Given the description of an element on the screen output the (x, y) to click on. 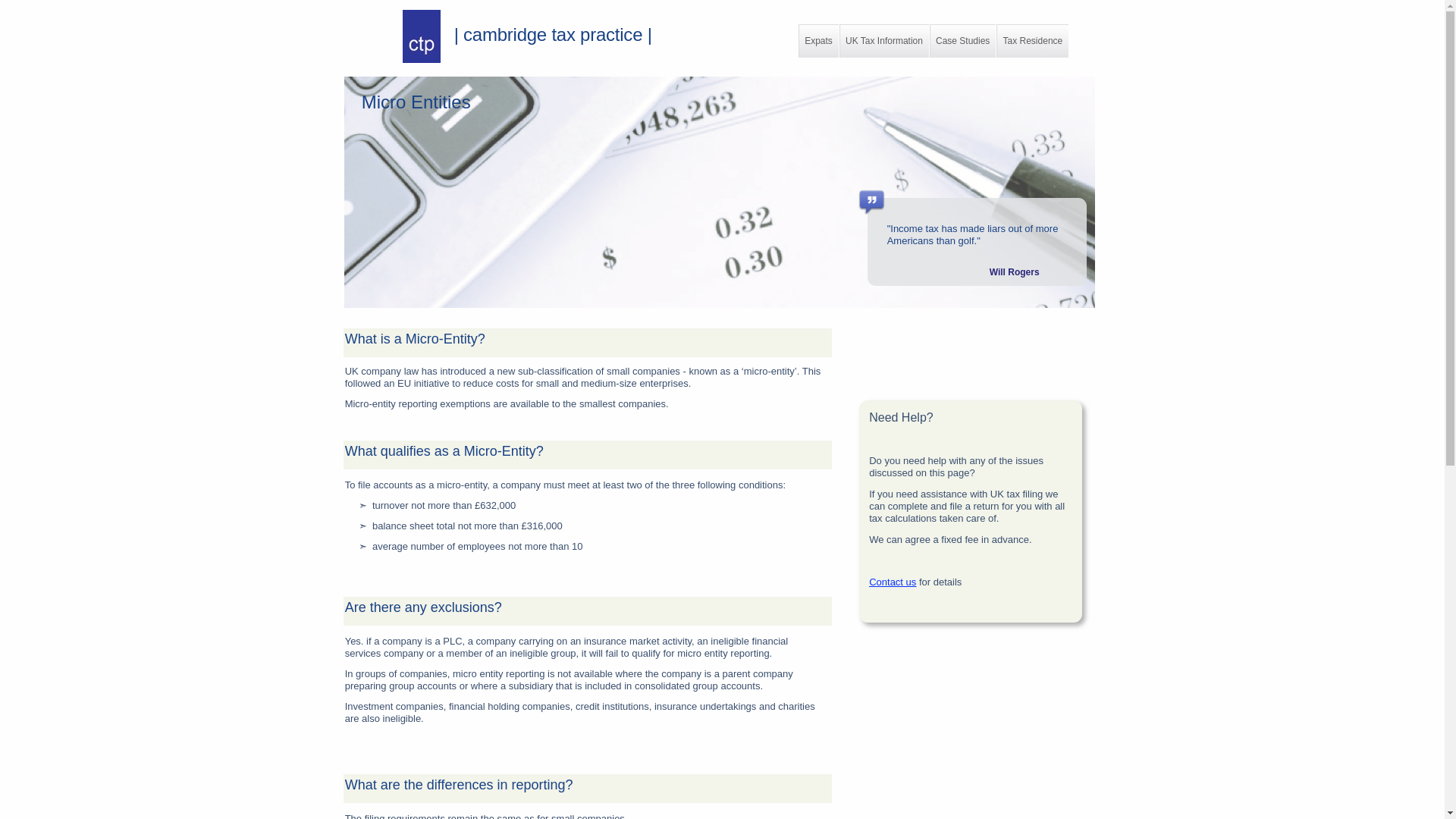
UK Tax Information (884, 40)
Expats (817, 40)
Contact us (892, 582)
Case Studies (962, 40)
Tax Residence (1031, 40)
